Given the description of an element on the screen output the (x, y) to click on. 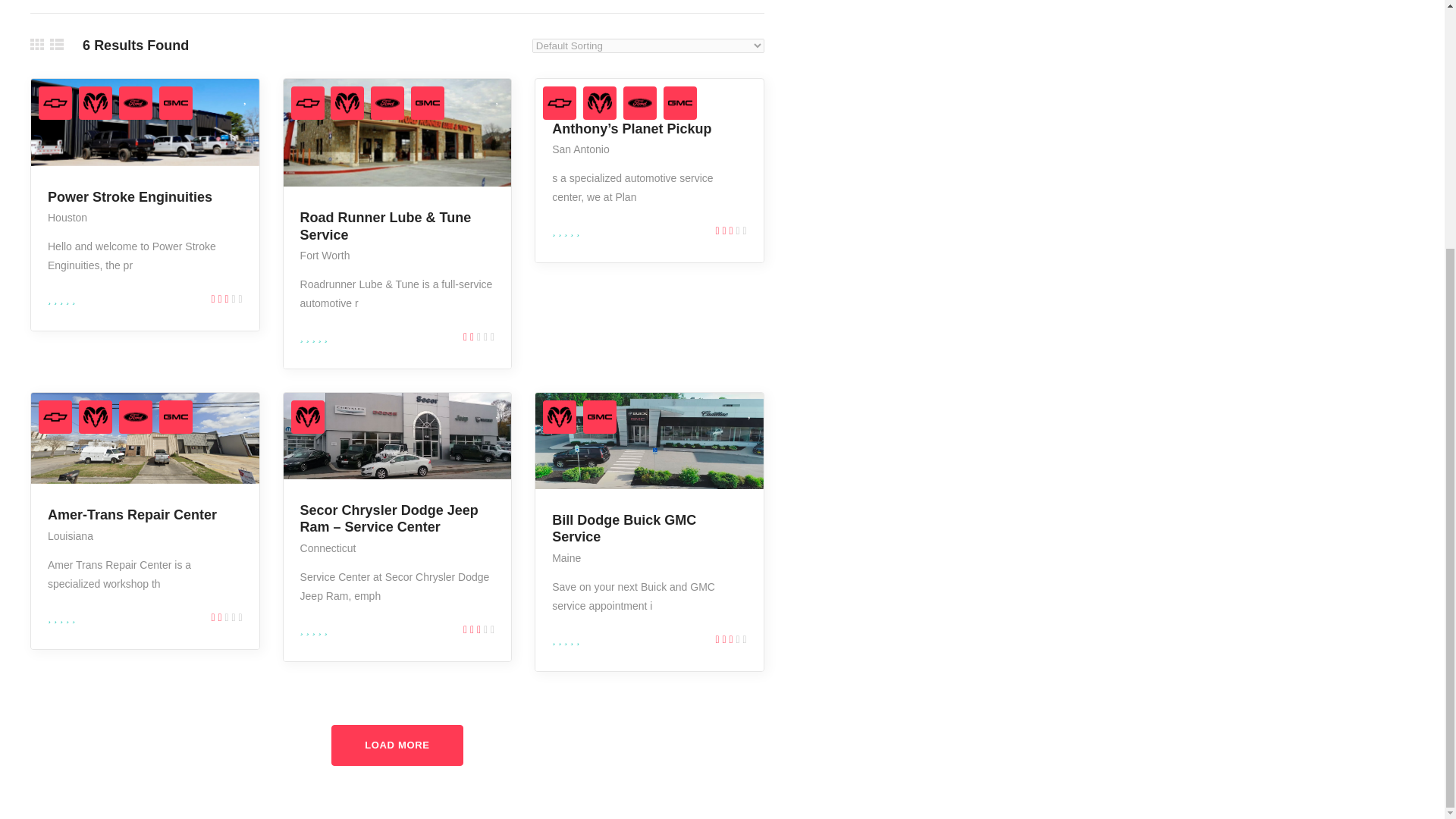
Houston (67, 217)
Power Stroke Enginuities (130, 196)
